Given the description of an element on the screen output the (x, y) to click on. 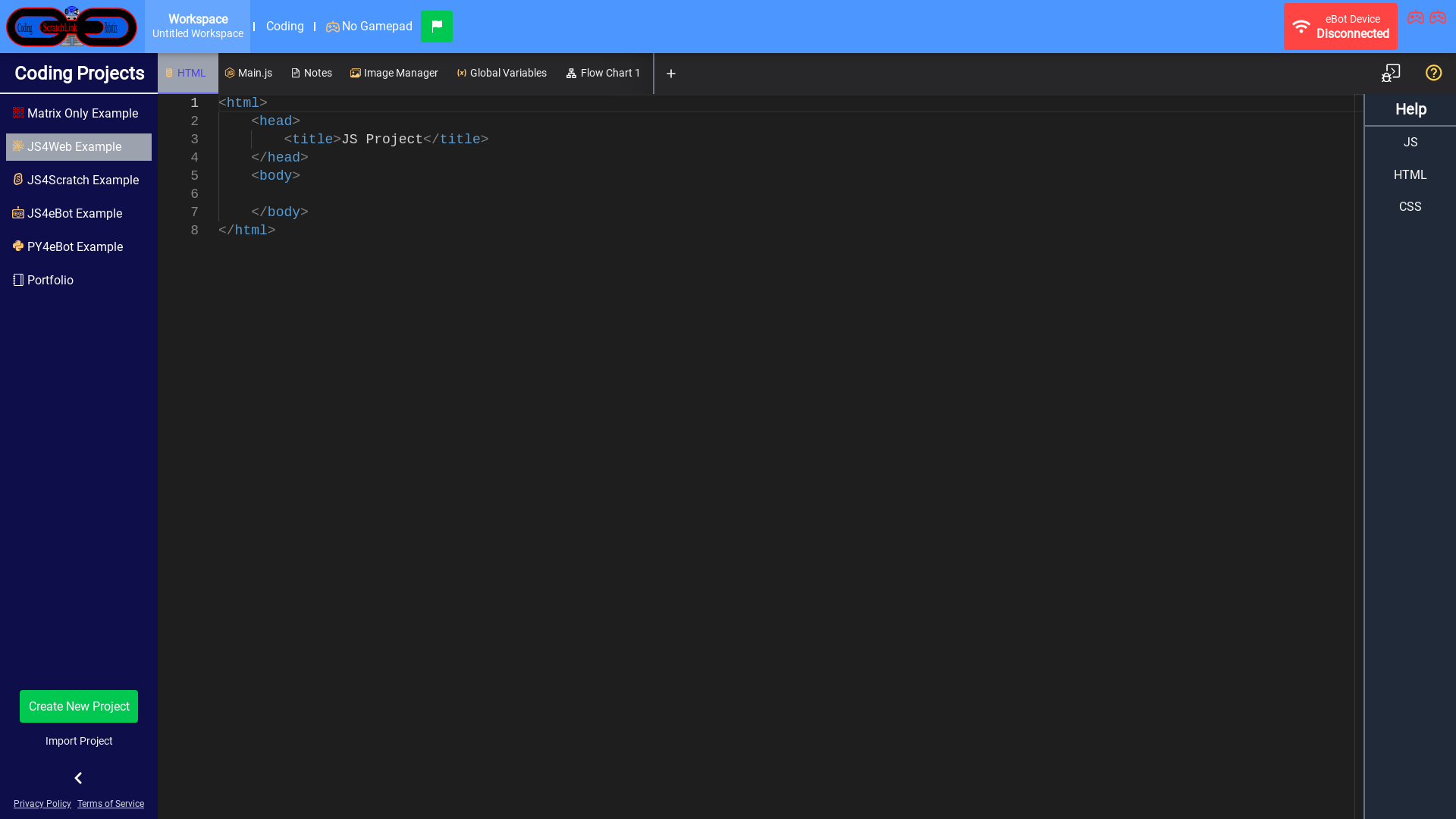
Flow Chart 1 Element type: text (605, 73)
Terms of Service Element type: text (110, 803)
New tab Element type: hover (670, 73)
Global Variables Element type: text (504, 73)
eBot Device
Disconnected Element type: text (1340, 26)
Notes Element type: text (314, 73)
Image Manager Element type: text (397, 73)
Workspace
Untitled Workspace Element type: text (197, 26)
Create New Project Element type: text (78, 705)
Import Project Element type: text (78, 740)
HTML Element type: text (187, 73)
No Gamepad Element type: text (368, 26)
Privacy Policy Element type: text (42, 803)
Main.js Element type: text (251, 73)
Coding Element type: text (284, 26)
